Given the description of an element on the screen output the (x, y) to click on. 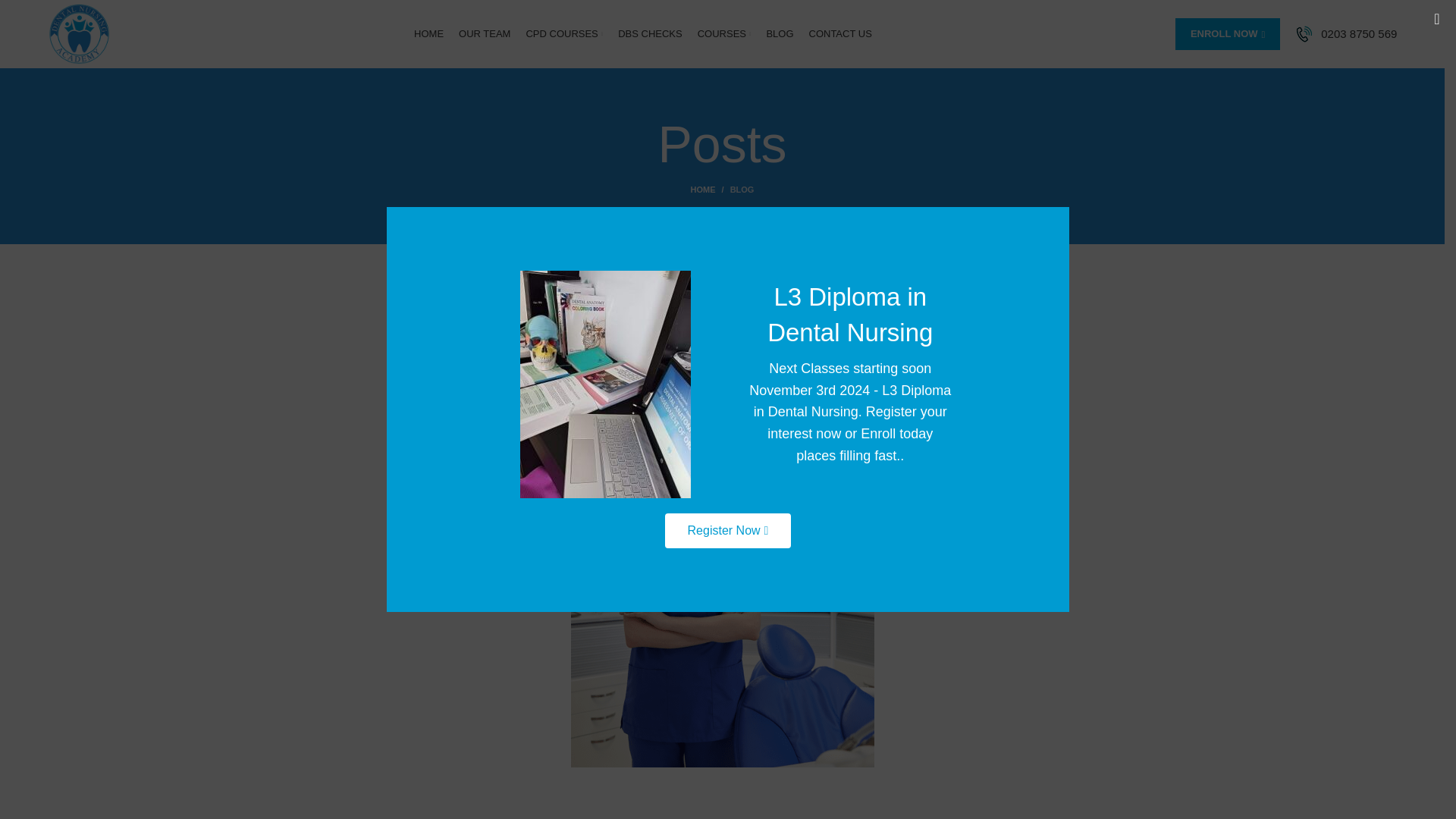
HOME (710, 189)
COURSES (724, 33)
CONTACT US (839, 33)
Register Now (728, 530)
BLOG (722, 283)
CPD COURSES (563, 33)
HOME (428, 33)
OUR TEAM (484, 33)
BLOG (742, 189)
0203 8750 569 (1358, 33)
